Given the description of an element on the screen output the (x, y) to click on. 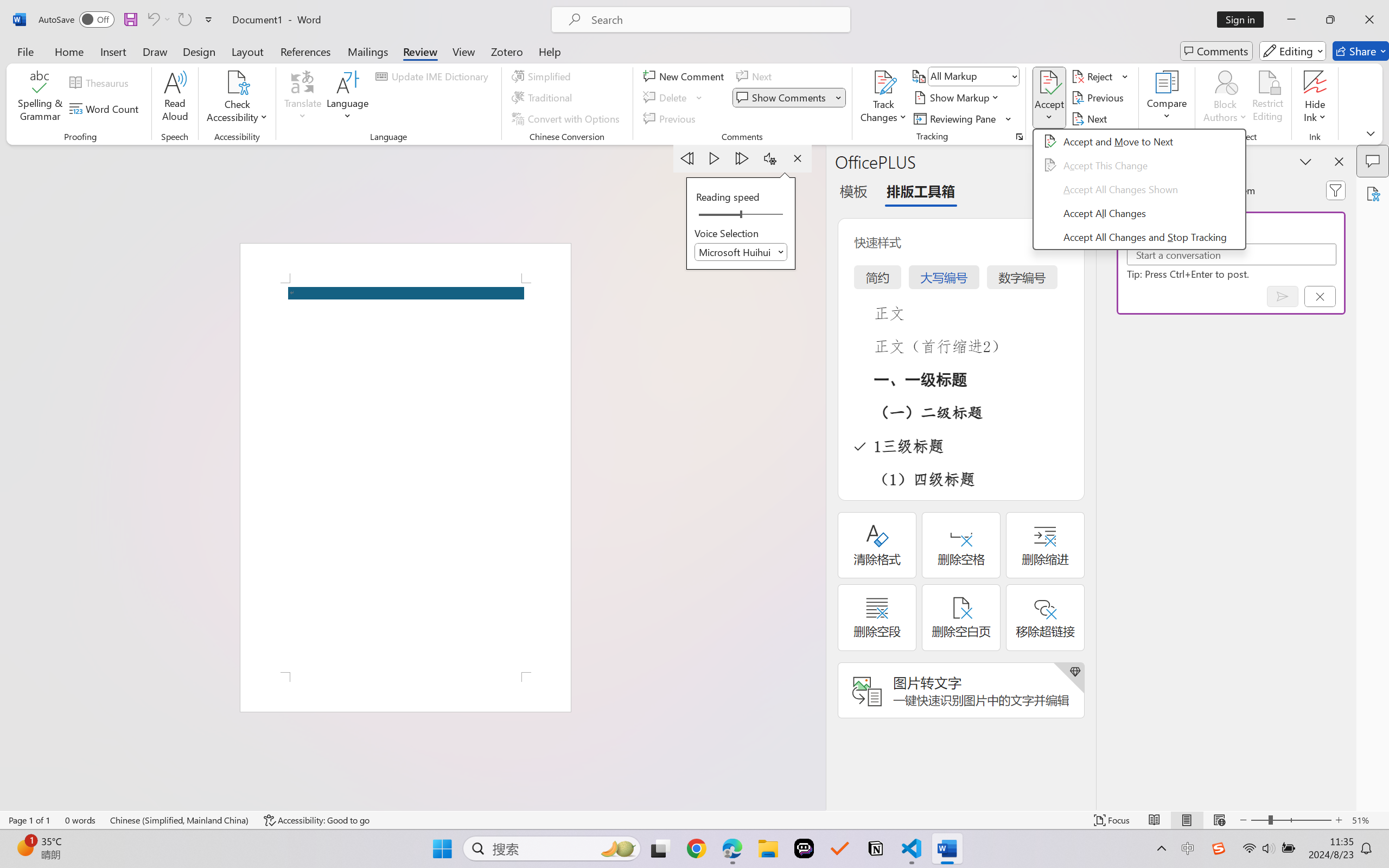
Previous (1099, 97)
Show Comments (788, 97)
Next (1090, 118)
Repeat Accessibility Checker (184, 19)
